Given the description of an element on the screen output the (x, y) to click on. 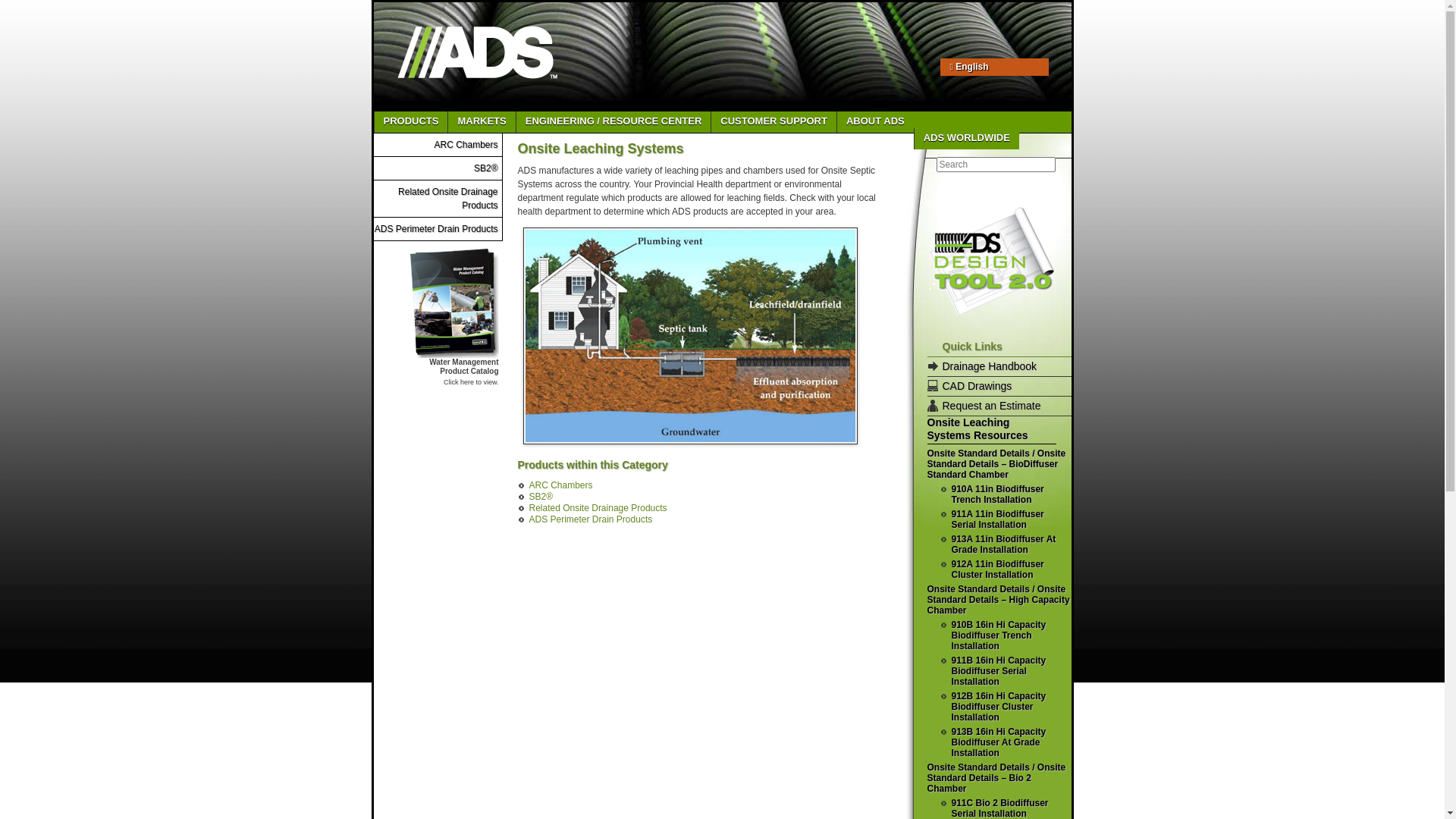
Request an Estimate Element type: text (990, 405)
910B 16in Hi Capacity Biodiffuser Trench Installation Element type: text (997, 635)
ADS Perimeter Drain Products Element type: text (590, 519)
911B 16in Hi Capacity Biodiffuser Serial Installation Element type: text (997, 671)
Click here to view. Element type: text (470, 381)
ADS Perimeter Drain Products Element type: text (436, 228)
PRODUCTS Element type: text (410, 121)
ARC Chambers Element type: text (561, 485)
913B 16in Hi Capacity Biodiffuser At Grade Installation Element type: text (997, 742)
MARKETS Element type: text (480, 121)
ADS WORLDWIDE Element type: text (966, 138)
910A 11in Biodiffuser Trench Installation Element type: text (996, 494)
CAD Drawings Element type: text (976, 385)
911A 11in Biodiffuser Serial Installation Element type: text (996, 519)
912B 16in Hi Capacity Biodiffuser Cluster Installation Element type: text (997, 706)
913A 11in Biodiffuser At Grade Installation Element type: text (1002, 544)
ENGINEERING / RESOURCE CENTER Element type: text (613, 121)
Drainage Handbook Element type: text (988, 366)
Related Onsite Drainage Products Element type: text (598, 507)
Related Onsite Drainage Products Element type: text (447, 198)
912A 11in Biodiffuser Cluster Installation Element type: text (996, 569)
ARC Chambers Element type: text (465, 144)
English Element type: text (987, 66)
CUSTOMER SUPPORT Element type: text (773, 121)
ABOUT ADS Element type: text (874, 121)
